Given the description of an element on the screen output the (x, y) to click on. 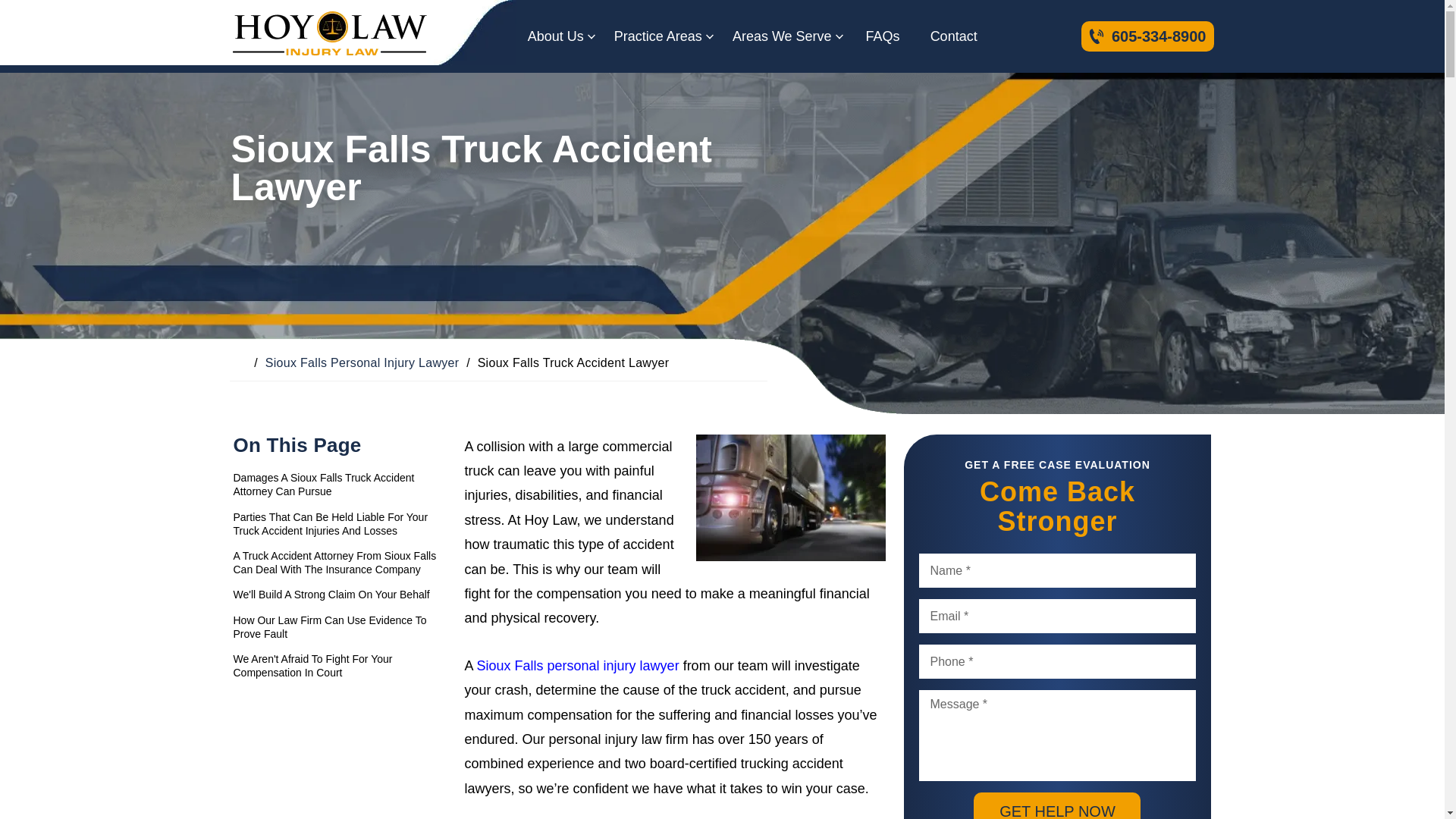
We Aren'T Afraid To Fight For Your Compensation In Court (342, 665)
Call to Hoy Law (1147, 36)
About Us (555, 36)
How Our Law Firm Can Use Evidence To Prove Fault (342, 625)
Damages A Sioux Falls Truck Accident Attorney Can Pursue (342, 483)
We'Ll Build A Strong Claim On Your Behalf (342, 594)
Get Help Now (1057, 805)
Hoy Law (328, 36)
Areas We Serve (781, 36)
Practice Areas (657, 36)
